Given the description of an element on the screen output the (x, y) to click on. 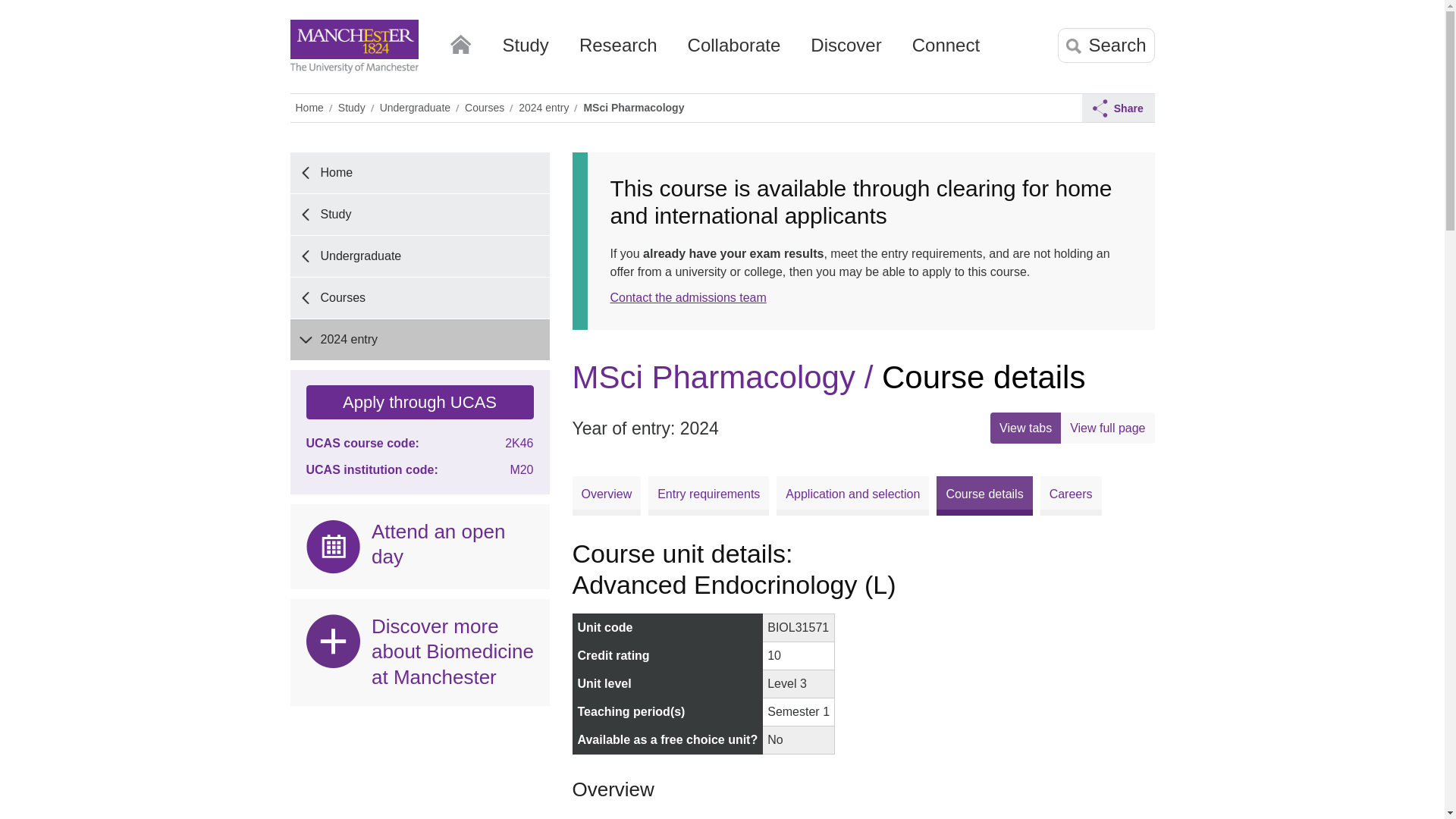
Research at the University (618, 50)
Home (459, 41)
Study (524, 50)
